Given the description of an element on the screen output the (x, y) to click on. 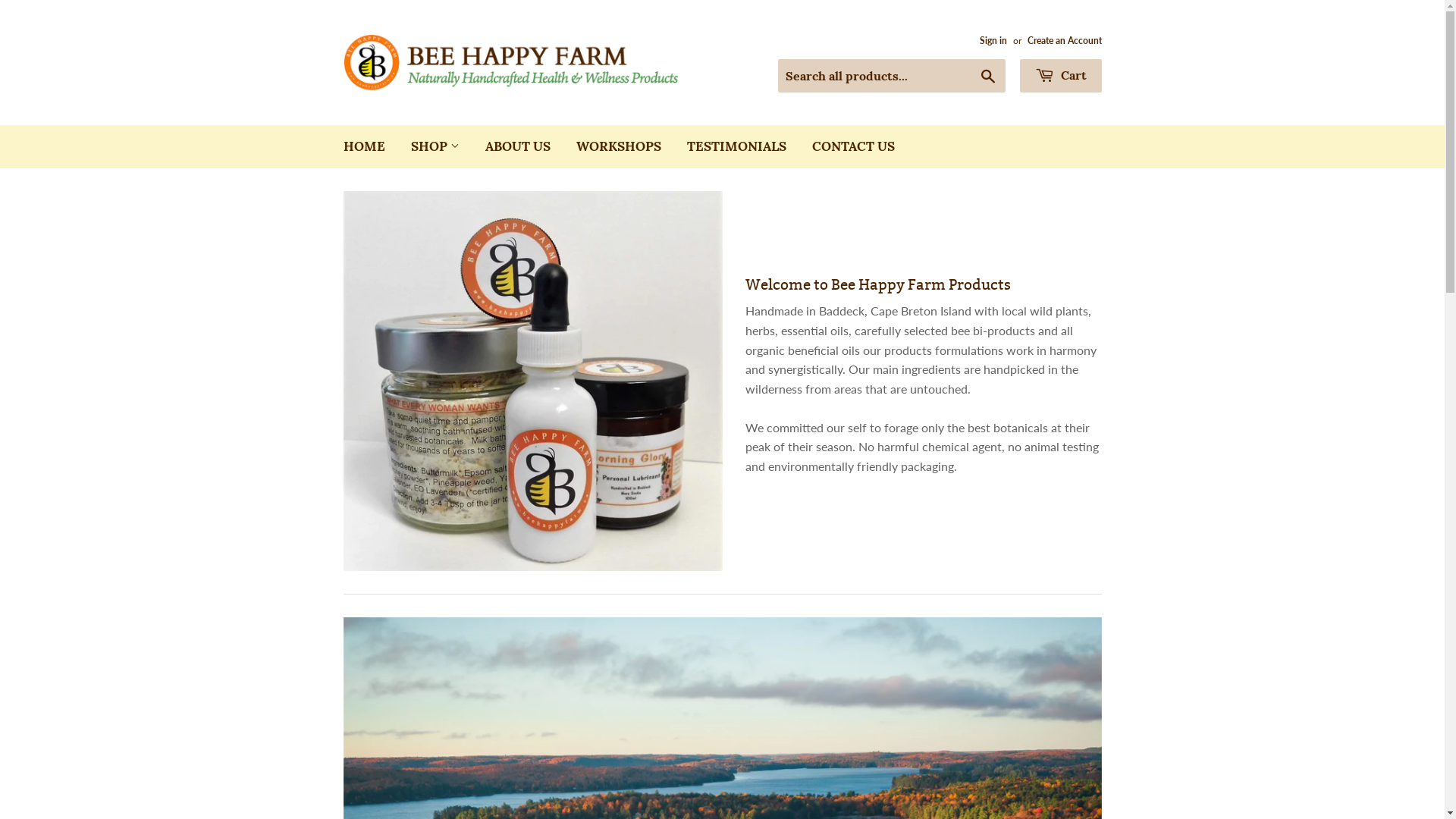
Search Element type: text (987, 76)
CONTACT US Element type: text (853, 146)
Cart Element type: text (1060, 75)
TESTIMONIALS Element type: text (735, 146)
Sign in Element type: text (993, 40)
HOME Element type: text (364, 146)
WORKSHOPS Element type: text (617, 146)
SHOP Element type: text (434, 146)
ABOUT US Element type: text (517, 146)
Create an Account Element type: text (1063, 40)
